Given the description of an element on the screen output the (x, y) to click on. 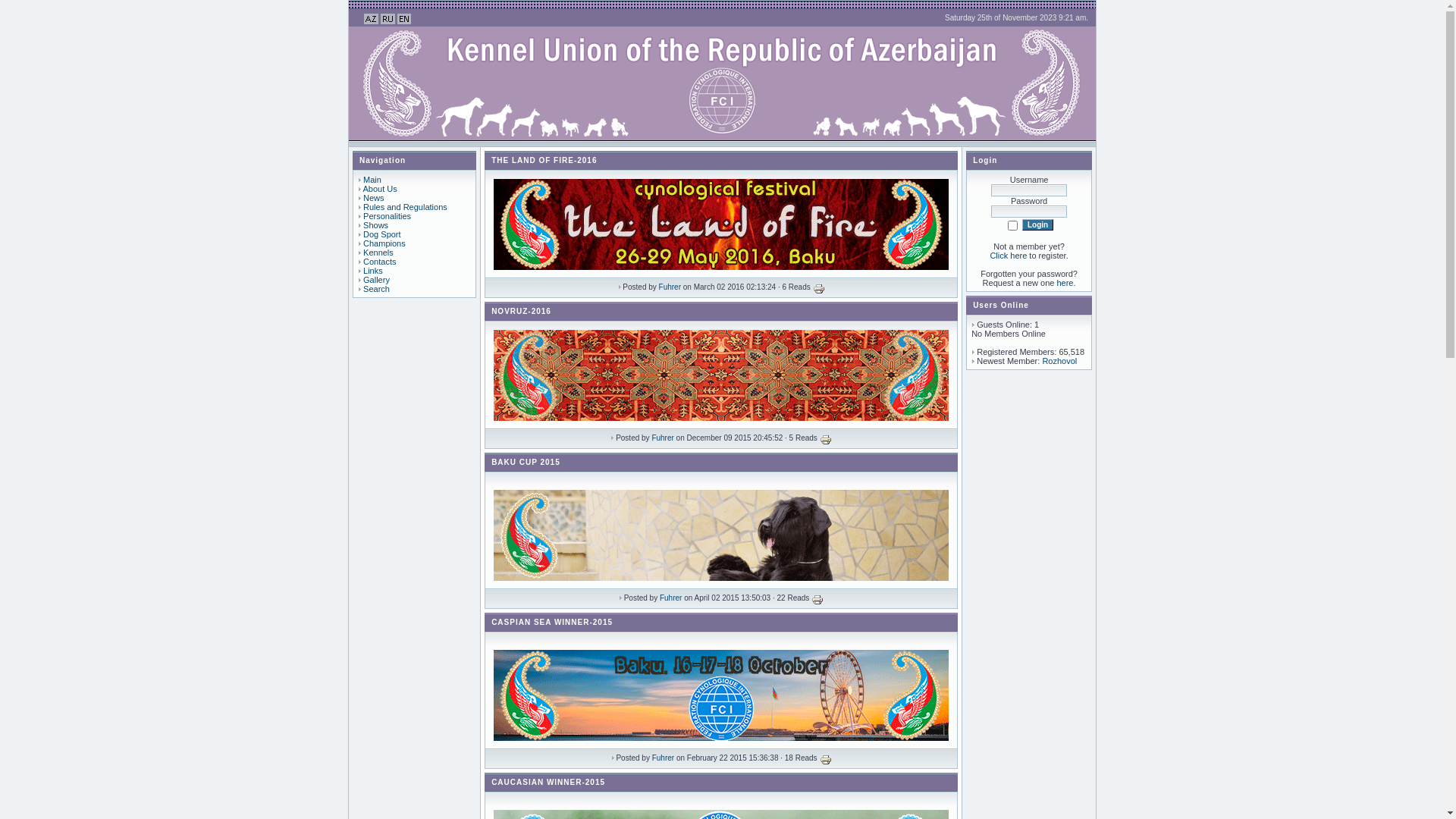
Search Element type: text (376, 288)
Shows Element type: text (375, 224)
Click here Element type: text (1007, 255)
here Element type: text (1064, 282)
Remember Me Element type: hover (1012, 225)
Contacts Element type: text (379, 261)
Login Element type: text (1037, 224)
Fuhrer Element type: text (669, 286)
Champions Element type: text (384, 242)
Kennels Element type: text (378, 252)
News Element type: text (373, 197)
About Us Element type: text (379, 188)
Personalities Element type: text (387, 215)
Gallery Element type: text (376, 279)
Fuhrer Element type: text (670, 597)
Rozhovol Element type: text (1058, 360)
Fuhrer Element type: text (662, 437)
Rules and Regulations Element type: text (405, 206)
Links Element type: text (372, 270)
Fuhrer Element type: text (663, 757)
Dog Sport Element type: text (382, 233)
Main Element type: text (372, 179)
